Given the description of an element on the screen output the (x, y) to click on. 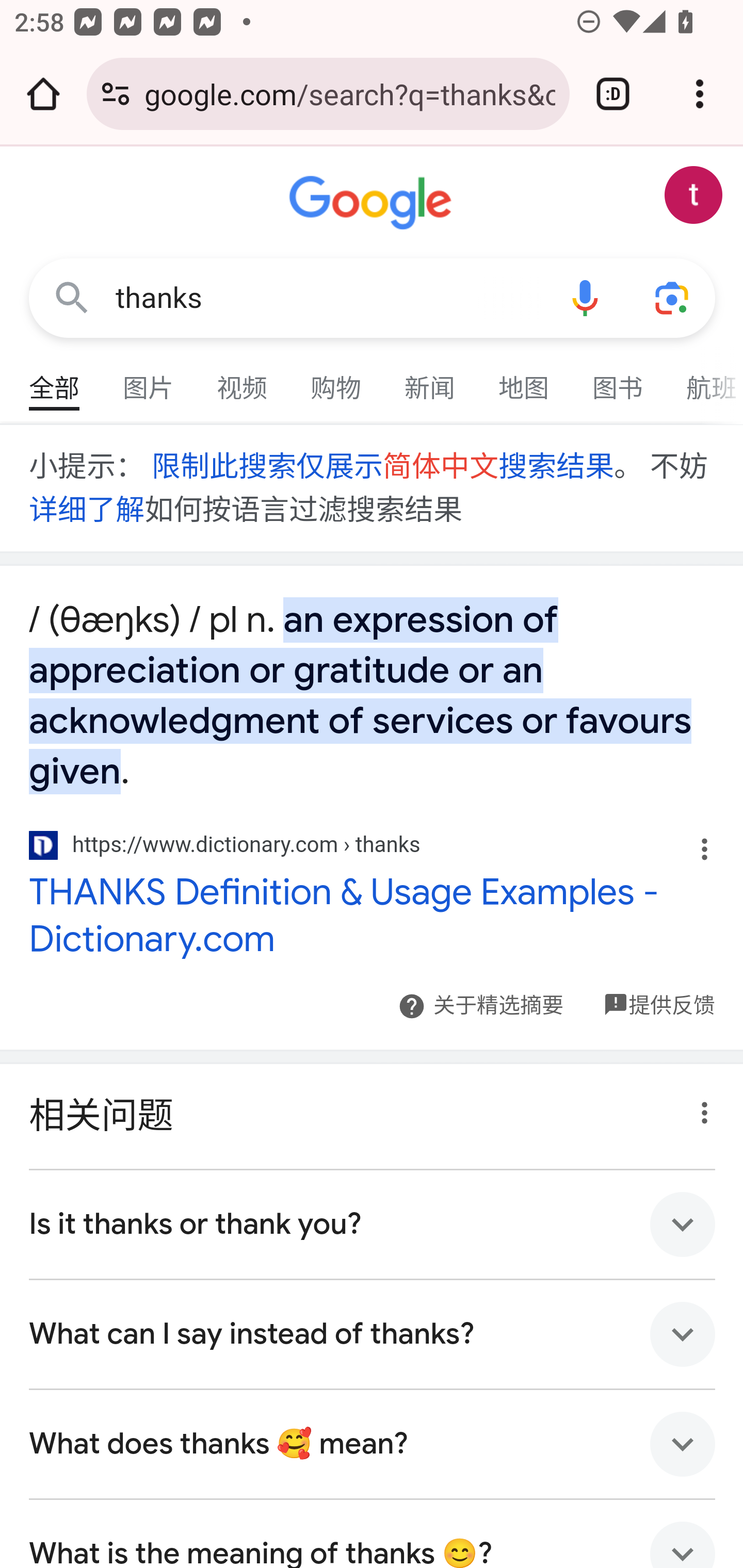
Open the home page (43, 93)
Connection is secure (115, 93)
Switch or close tabs (612, 93)
Customize and control Google Chrome (699, 93)
Google (372, 203)
Google 账号： test appium (testappium002@gmail.com) (694, 195)
Google 搜索 (71, 296)
使用拍照功能或照片进行搜索 (672, 296)
thanks (328, 297)
图片 (148, 378)
视频 (242, 378)
购物 (336, 378)
新闻 (430, 378)
地图 (524, 378)
图书 (618, 378)
航班 (703, 378)
限制此搜索仅展示简体中文搜索结果 限制此搜索仅展示 简体中文 搜索结果 (381, 467)
详细了解 (86, 509)
提供反馈 (671, 994)
关于精选摘要 (497, 1005)
关于这条结果的详细信息 (698, 1107)
Is it thanks or thank you? (372, 1224)
What can I say instead of thanks? (372, 1333)
What does thanks 🥰 mean? (372, 1443)
What is the meaning of thanks 😊? (372, 1533)
